Given the description of an element on the screen output the (x, y) to click on. 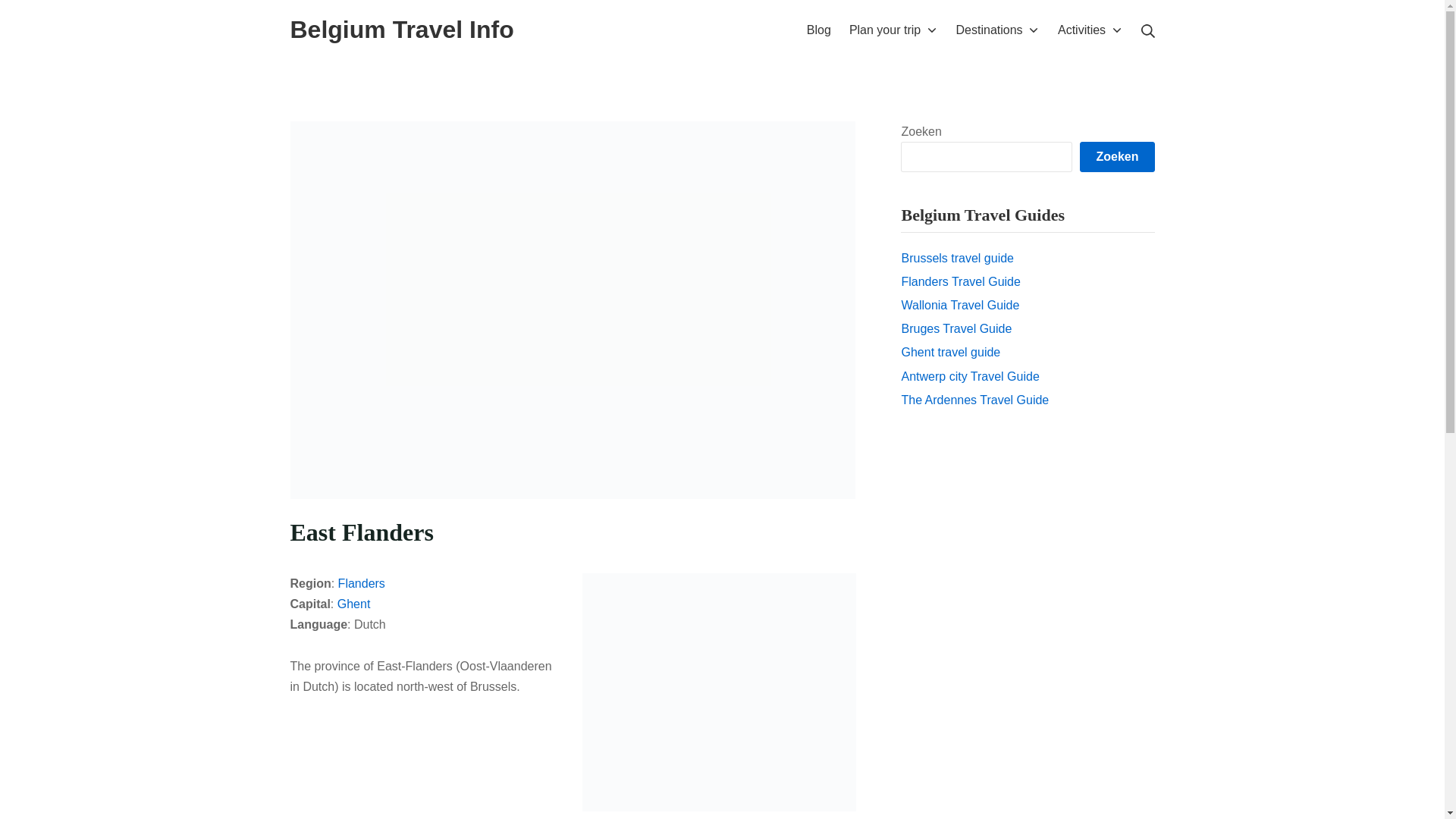
Blog (818, 29)
Destinations (997, 29)
Plan your trip (892, 29)
Activities (1090, 29)
Belgium Travel Info (401, 29)
